Given the description of an element on the screen output the (x, y) to click on. 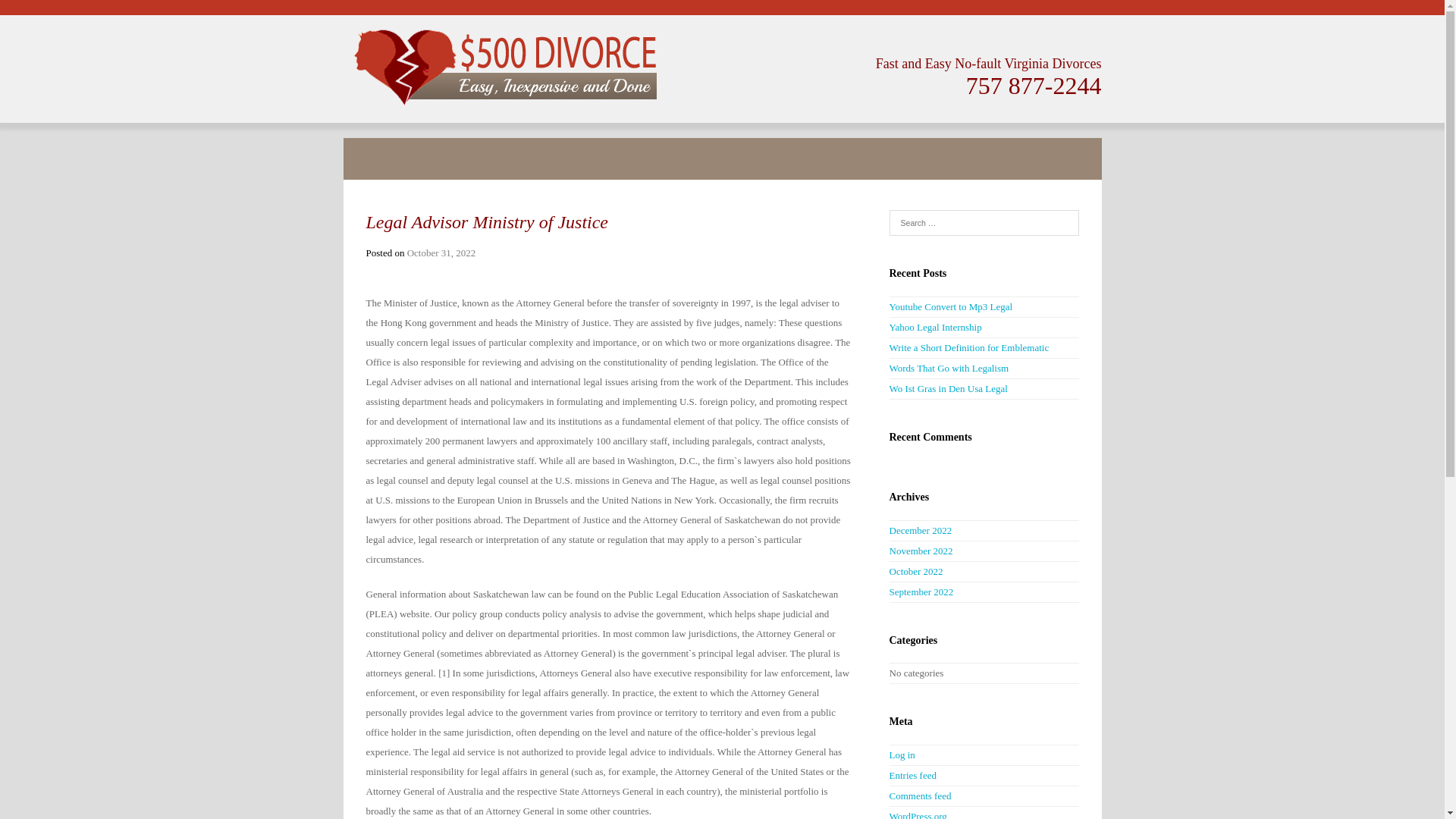
Youtube Convert to Mp3 Legal Element type: text (950, 306)
December 2022 Element type: text (919, 530)
October 2022 Element type: text (915, 571)
Write a Short Definition for Emblematic Element type: text (968, 347)
Wo Ist Gras in Den Usa Legal Element type: text (947, 388)
Comments feed Element type: text (919, 795)
757 877-2244 Element type: text (1033, 85)
Entries feed Element type: text (911, 775)
September 2022 Element type: text (920, 591)
November 2022 Element type: text (920, 550)
Log in Element type: text (901, 754)
Words That Go with Legalism Element type: text (948, 367)
Yahoo Legal Internship Element type: text (934, 326)
